Given the description of an element on the screen output the (x, y) to click on. 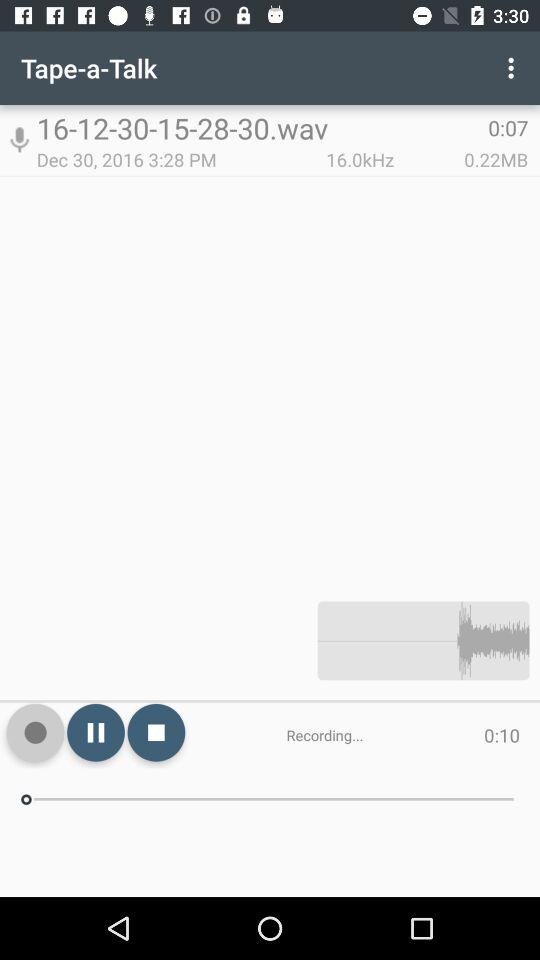
click app next to 16 12 30 app (19, 140)
